Given the description of an element on the screen output the (x, y) to click on. 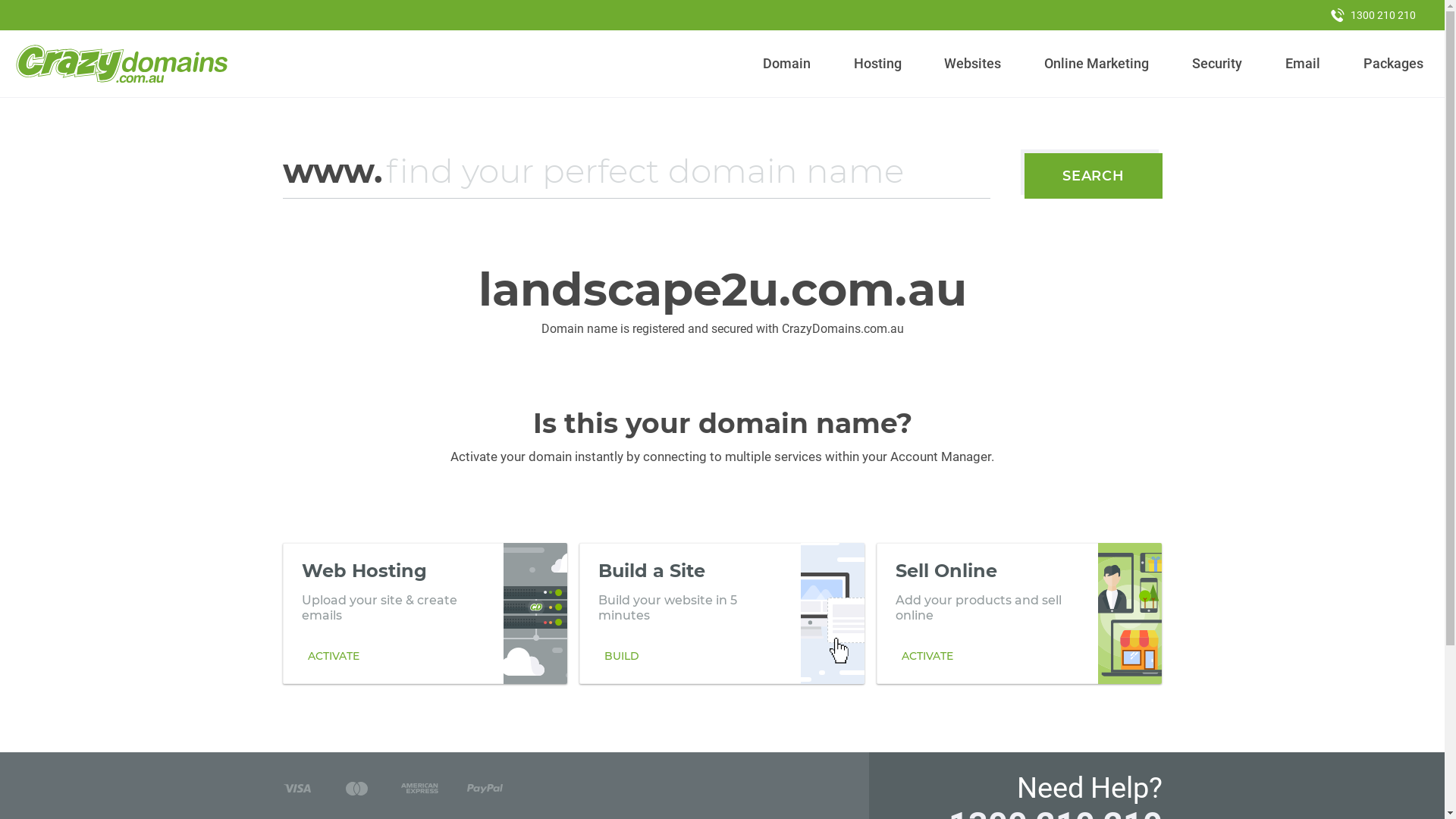
Websites Element type: text (972, 63)
SEARCH Element type: text (1092, 175)
Build a Site
Build your website in 5 minutes
BUILD Element type: text (721, 613)
Sell Online
Add your products and sell online
ACTIVATE Element type: text (1018, 613)
Domain Element type: text (786, 63)
Packages Element type: text (1392, 63)
Security Element type: text (1217, 63)
1300 210 210 Element type: text (1373, 15)
Email Element type: text (1302, 63)
Hosting Element type: text (877, 63)
Online Marketing Element type: text (1096, 63)
Web Hosting
Upload your site & create emails
ACTIVATE Element type: text (424, 613)
